Given the description of an element on the screen output the (x, y) to click on. 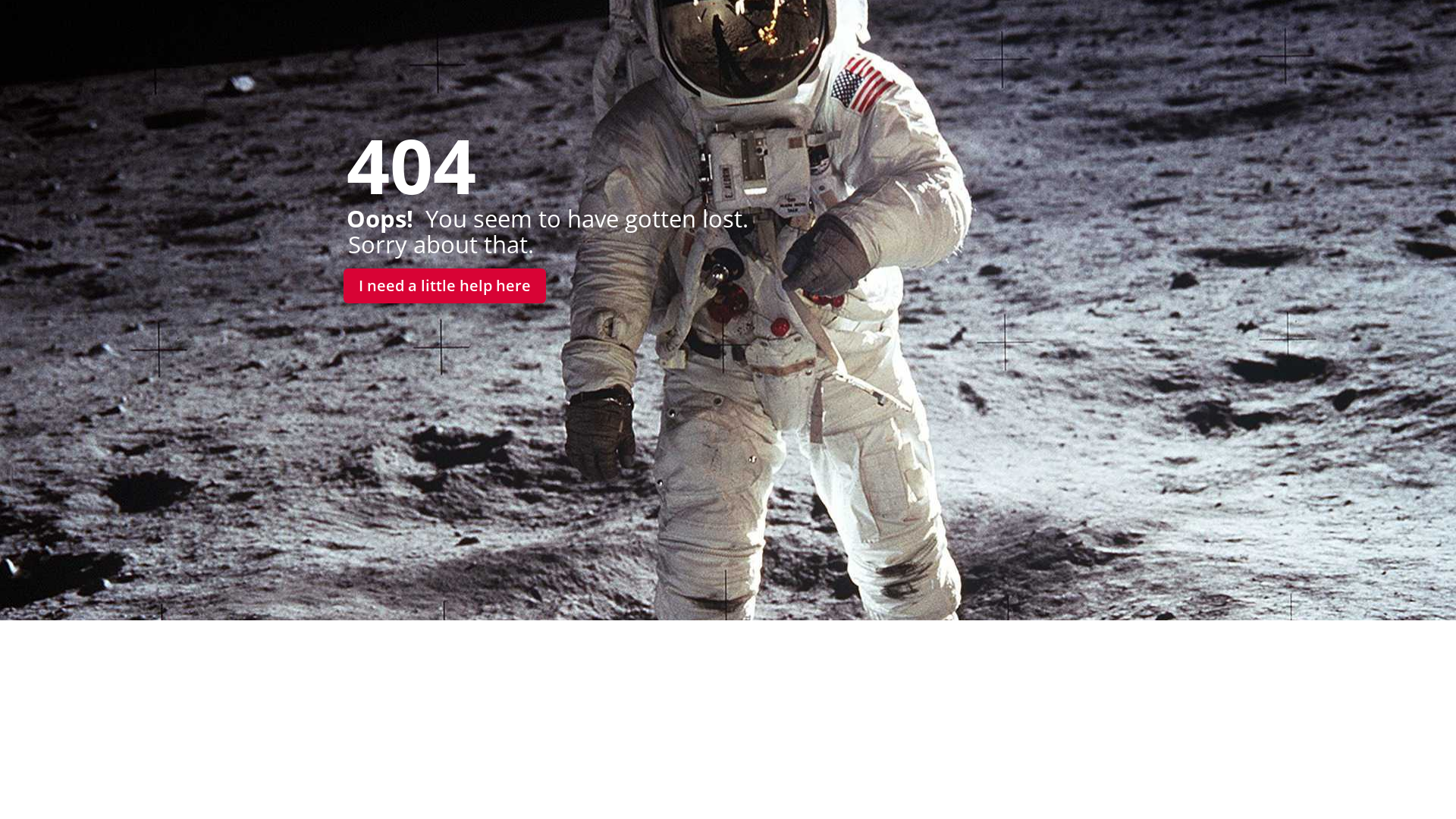
I need a little help here Element type: text (444, 285)
